Given the description of an element on the screen output the (x, y) to click on. 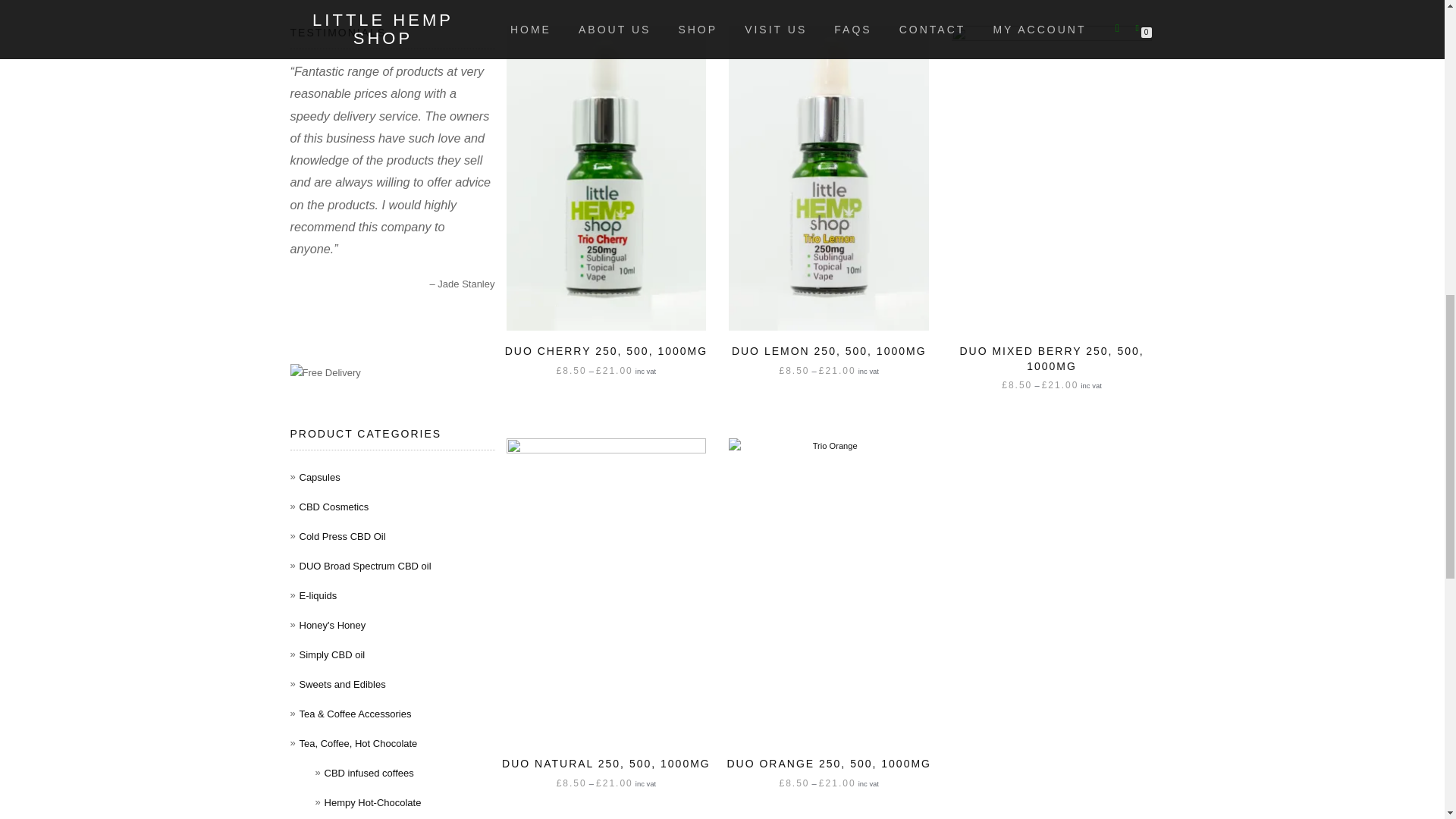
DUO Broad Spectrum CBD oil (364, 565)
Honey's Honey (331, 624)
CBD Cosmetics (333, 506)
Sweets and Edibles (341, 684)
Capsules (318, 477)
E-liquids (317, 595)
Cold Press CBD Oil (341, 536)
Simply CBD oil (331, 654)
